Given the description of an element on the screen output the (x, y) to click on. 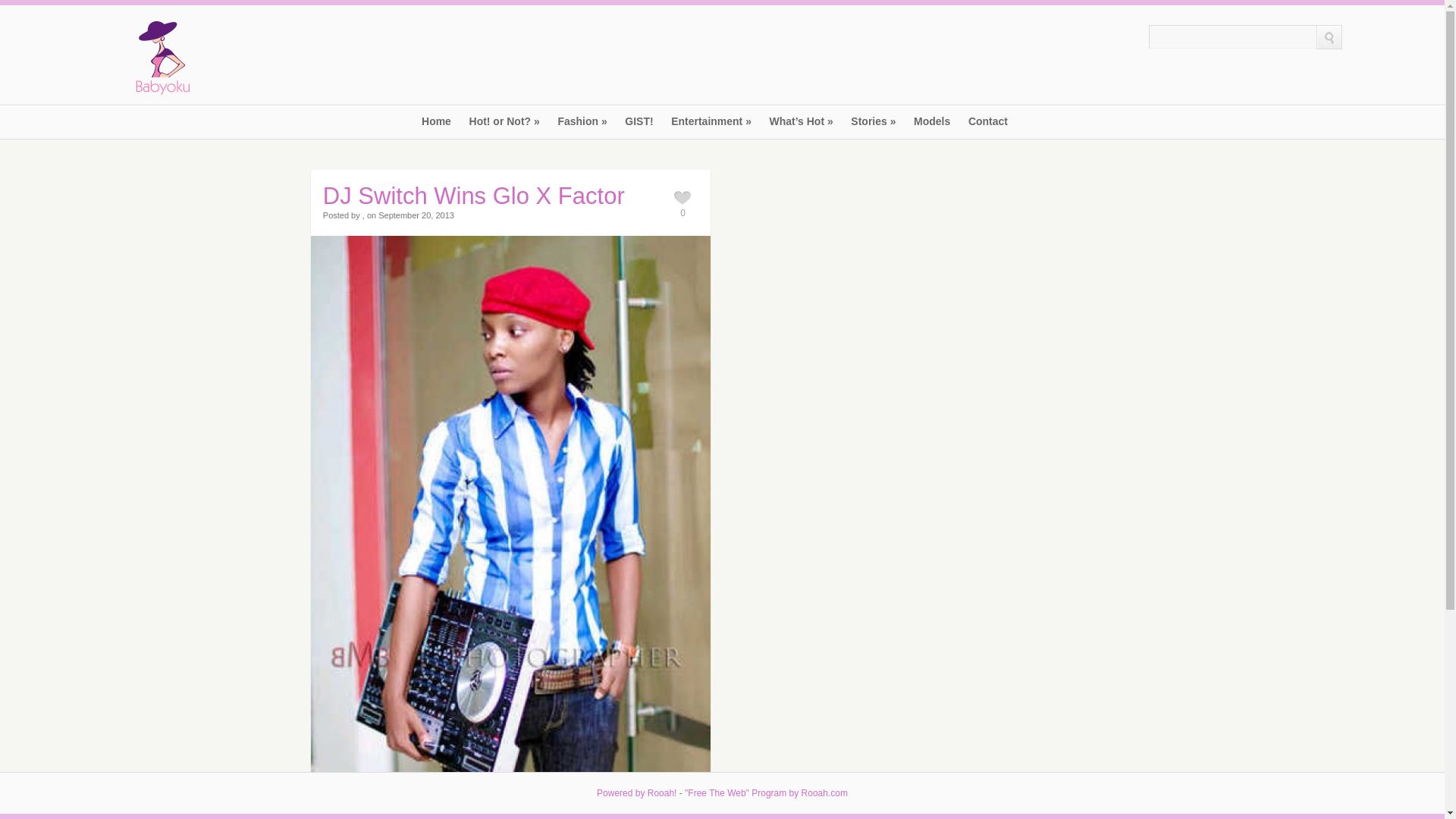
Search (1232, 36)
Get Free Website Development (765, 792)
GIST! (638, 126)
"Free The Web" Program by Rooah.com (765, 792)
Powered by Rooah! (636, 792)
Contact (987, 126)
Home (436, 126)
Models (932, 126)
